Given the description of an element on the screen output the (x, y) to click on. 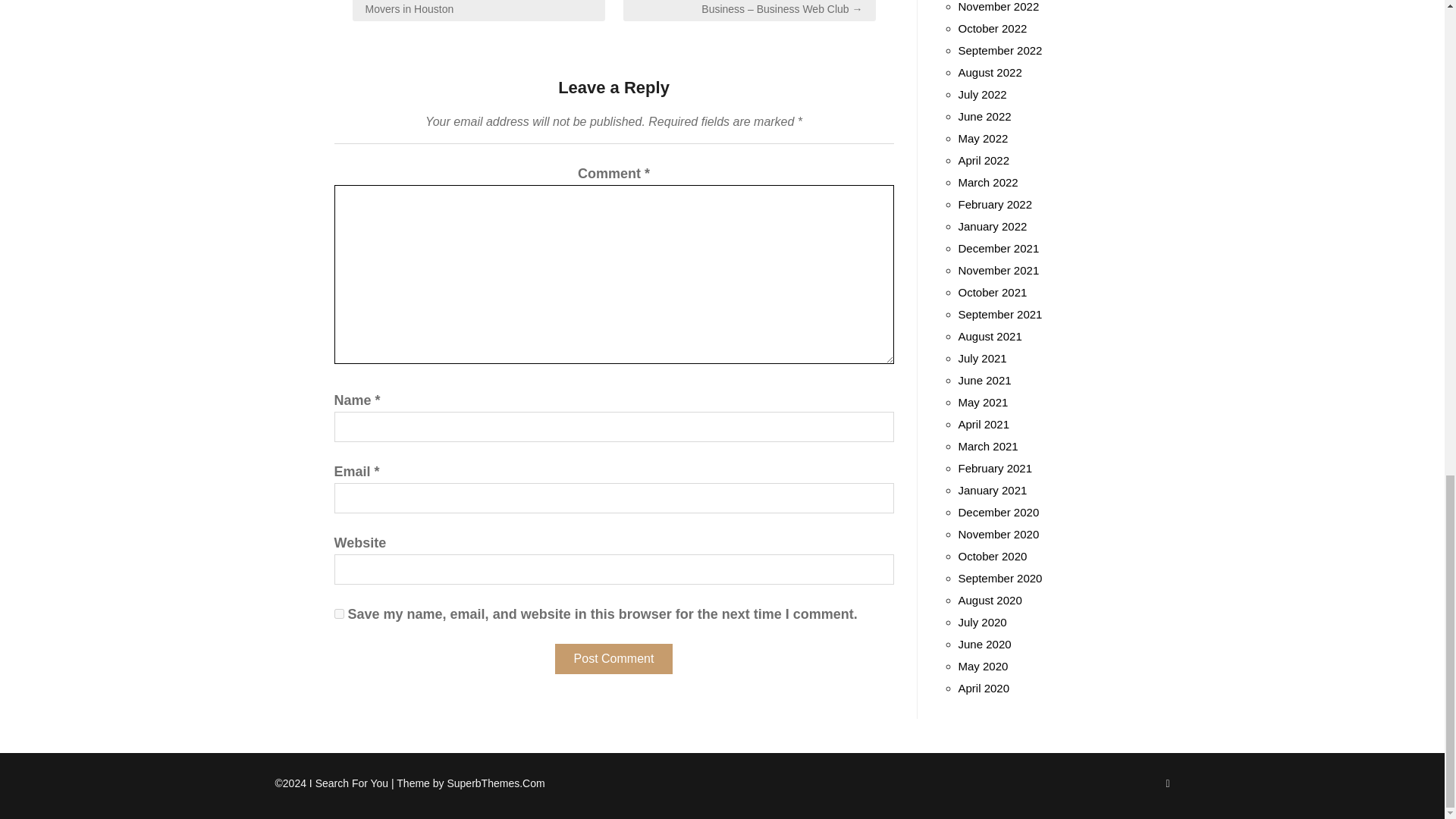
Back To Top (1167, 783)
Post Comment (613, 658)
Post Comment (613, 658)
yes (338, 614)
